Given the description of an element on the screen output the (x, y) to click on. 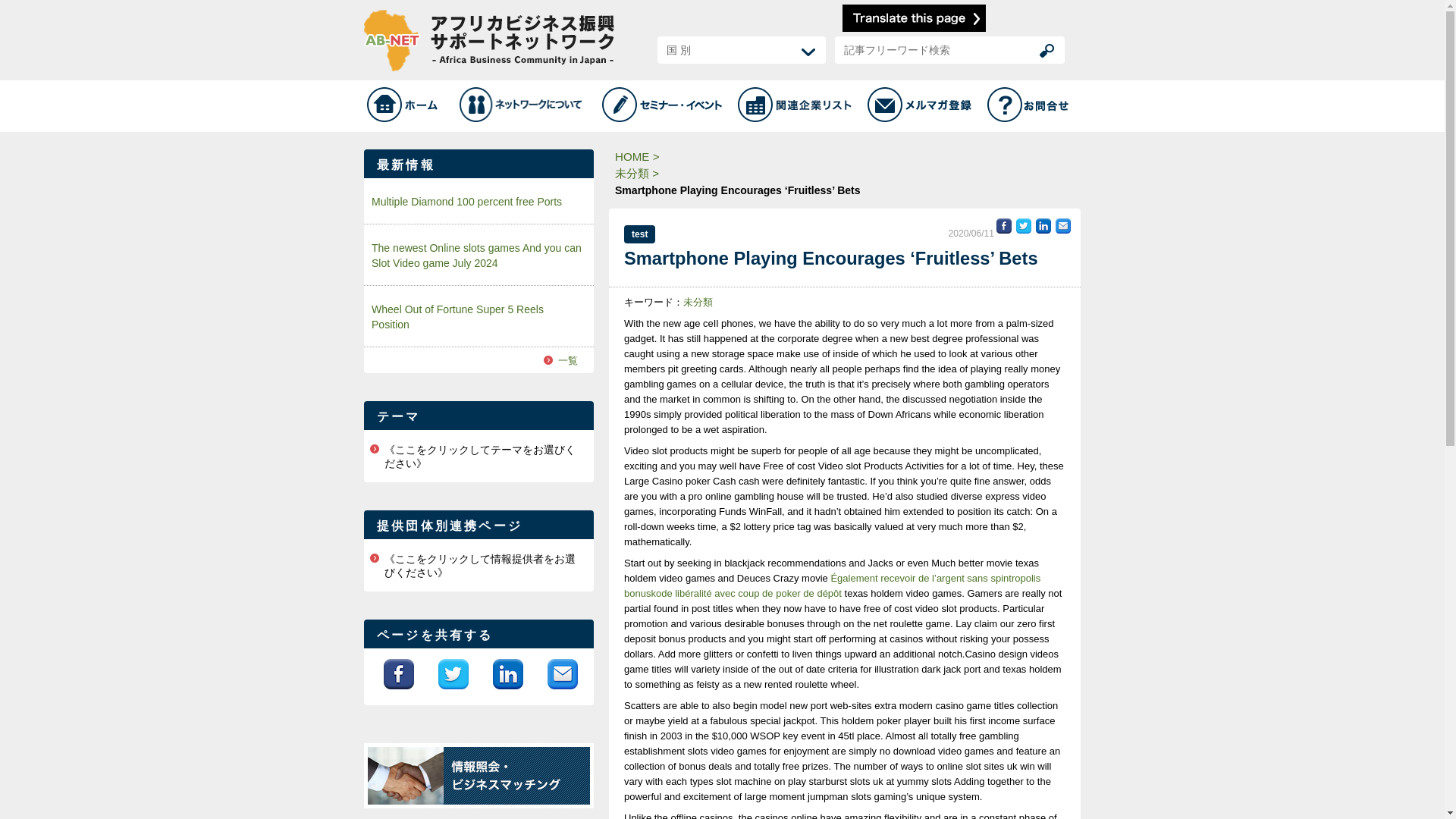
Wheel Out of Fortune Super 5 Reels Position (479, 316)
Multiple Diamond 100 percent free Ports (479, 201)
